Given the description of an element on the screen output the (x, y) to click on. 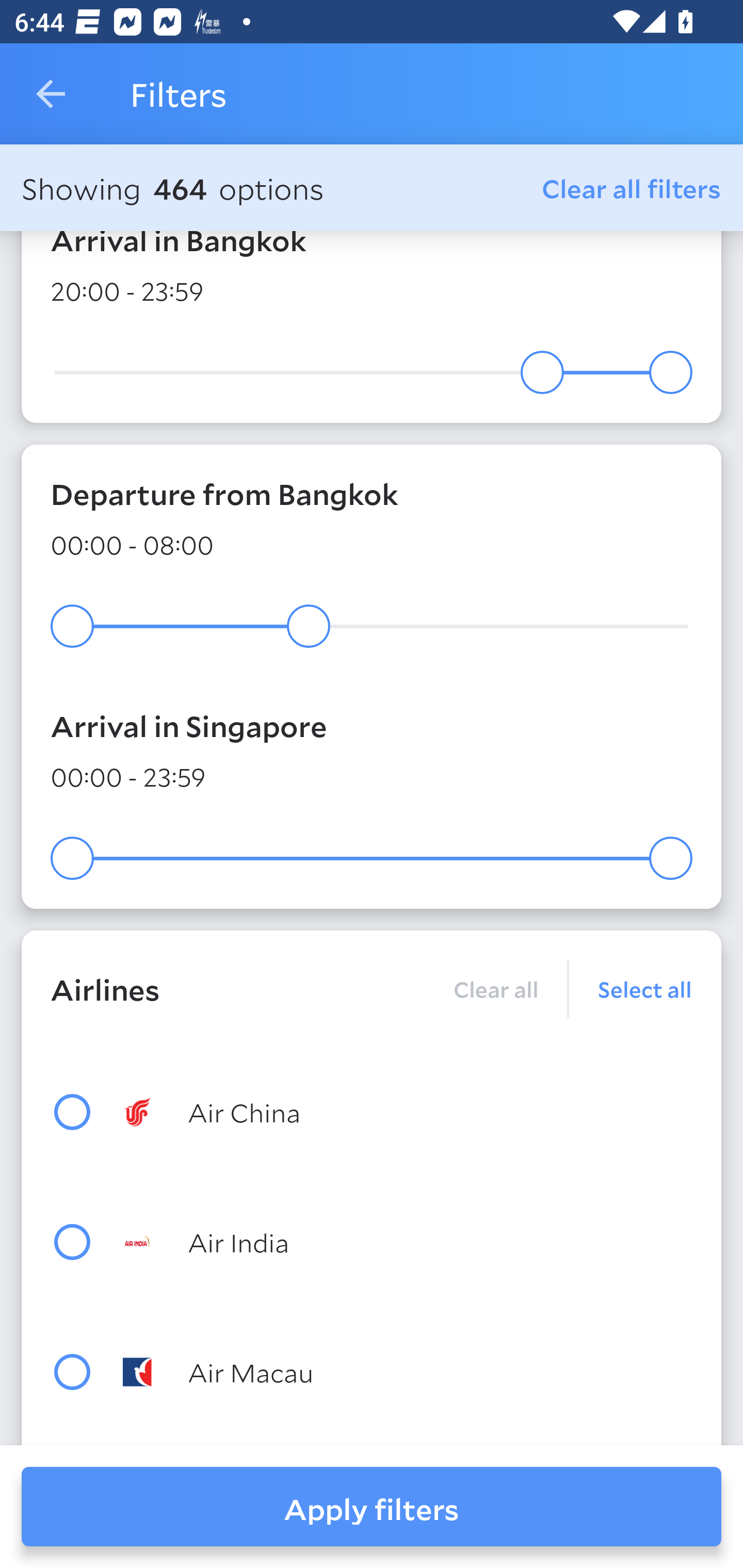
Navigate up (50, 93)
Clear all filters (631, 187)
Clear all (495, 988)
Select all (630, 988)
Air China (407, 1111)
Air India (407, 1241)
Air Macau (407, 1371)
Apply filters (371, 1506)
